Given the description of an element on the screen output the (x, y) to click on. 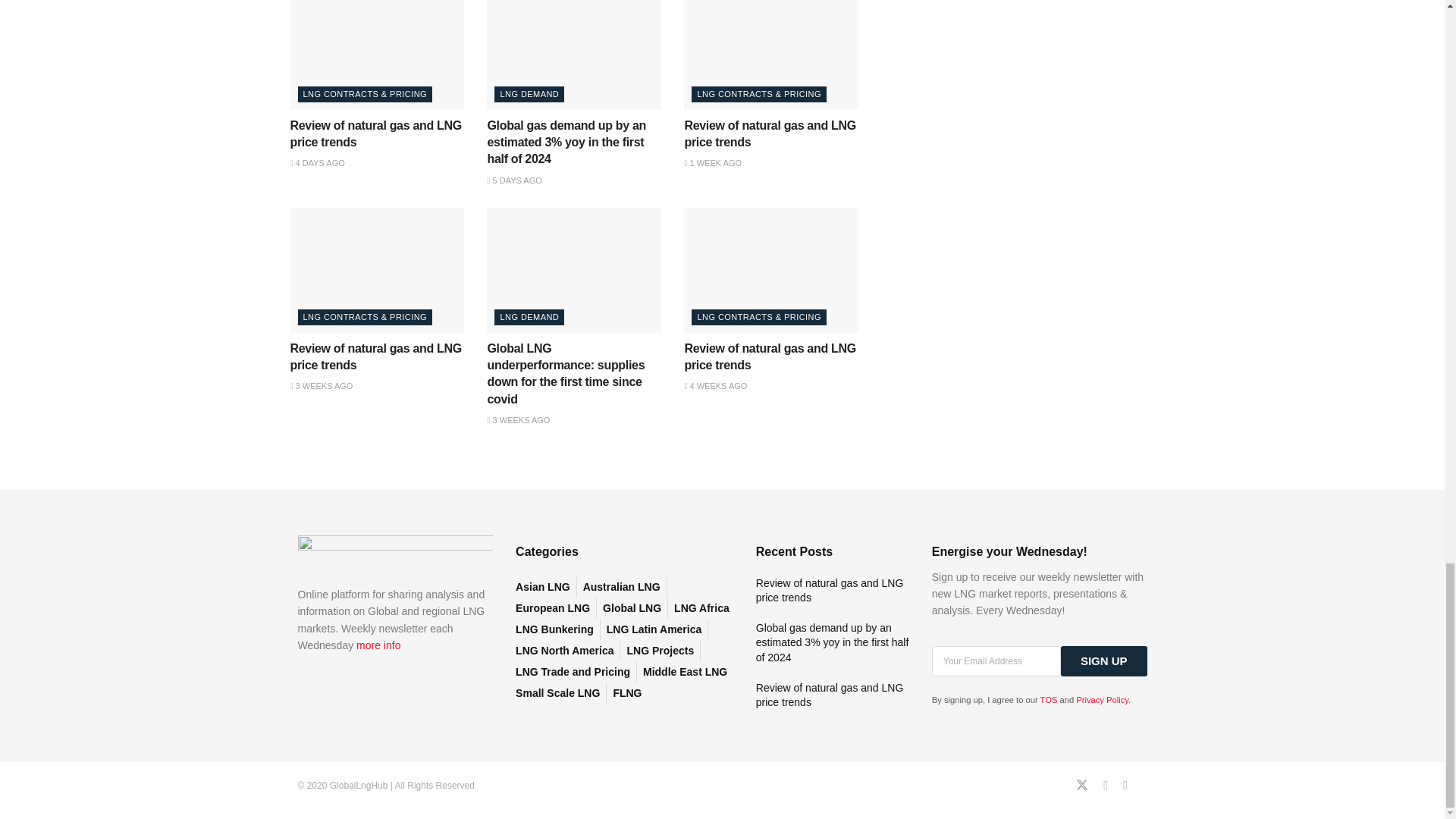
Privacy Policy (1101, 699)
